Given the description of an element on the screen output the (x, y) to click on. 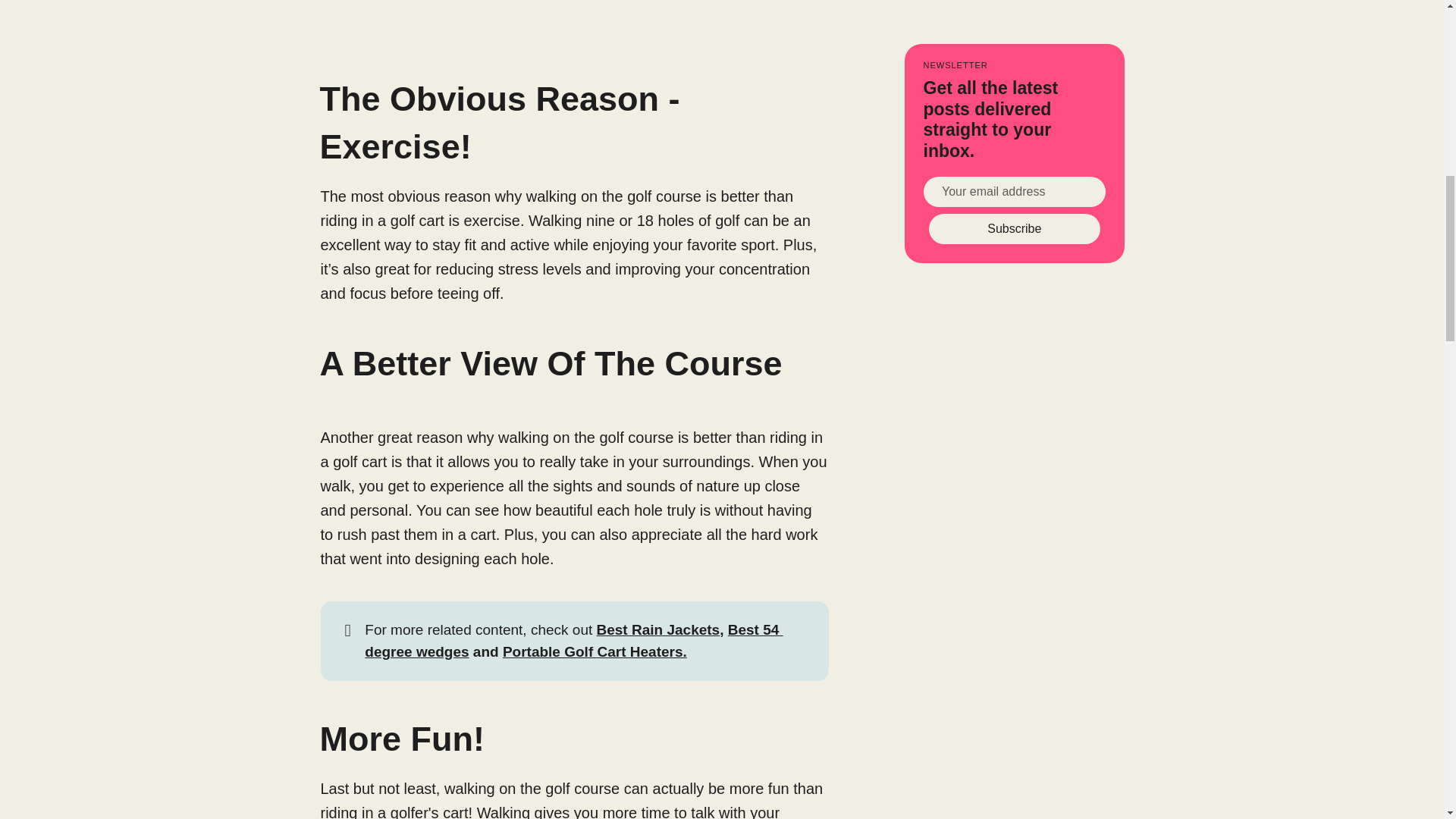
Subscribe (1014, 228)
Best Rain Jackets (658, 629)
Portable Golf Cart Heaters. (594, 651)
Best 54 degree wedges (574, 640)
